Given the description of an element on the screen output the (x, y) to click on. 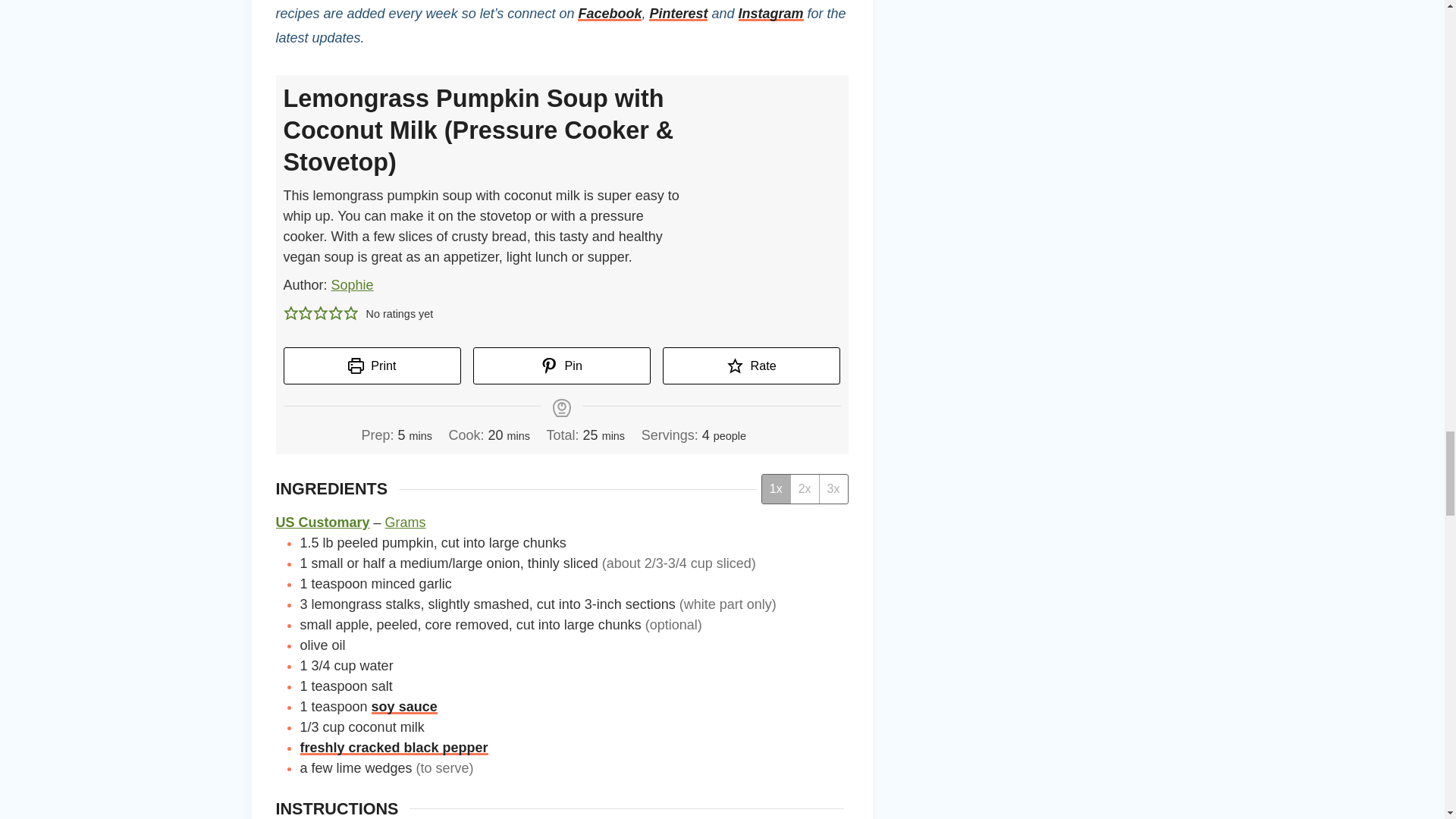
Print (372, 365)
Sophie (352, 284)
Facebook (610, 13)
Instagram (770, 13)
Pinterest (678, 13)
